Given the description of an element on the screen output the (x, y) to click on. 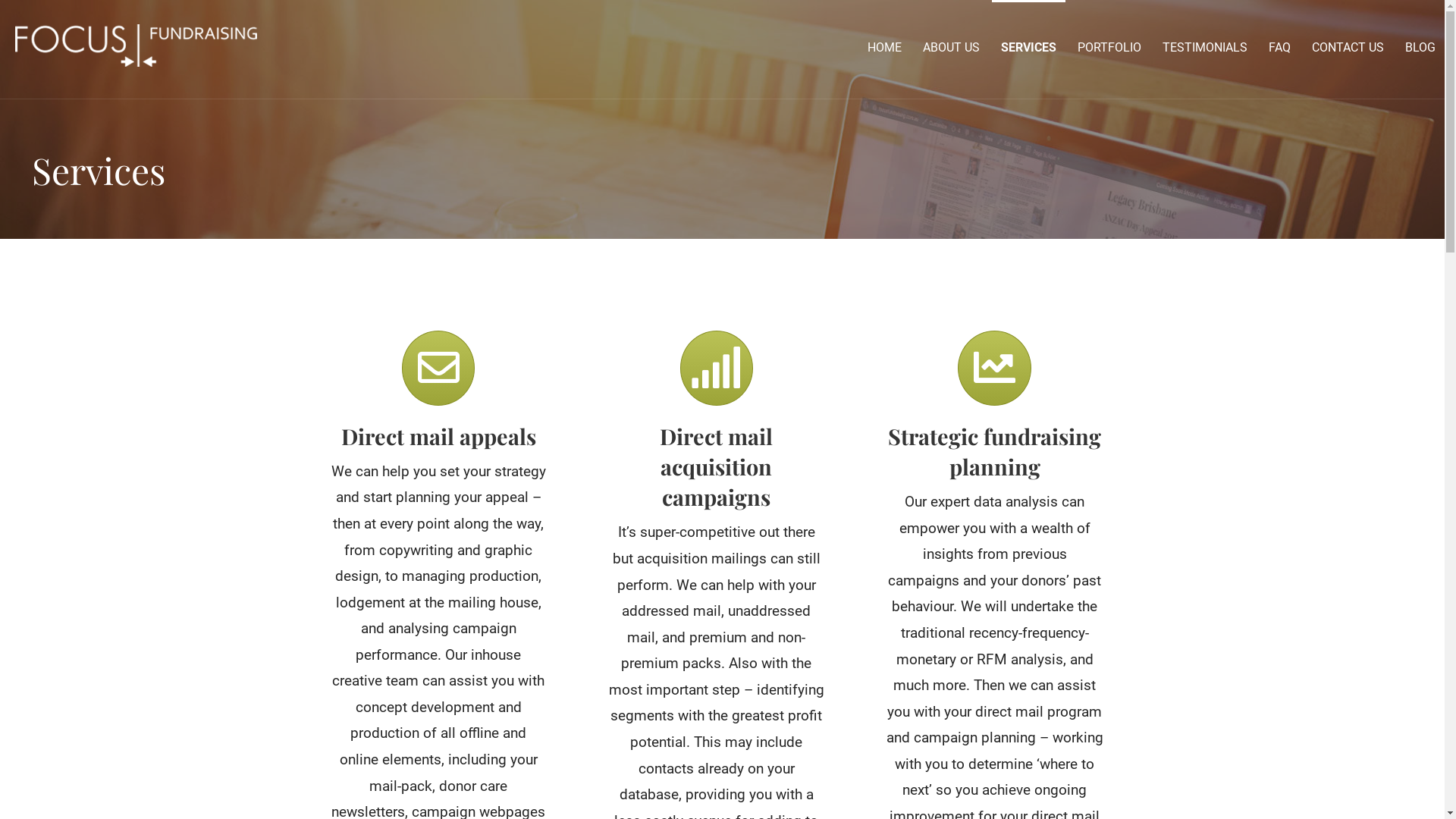
TESTIMONIALS Element type: text (1204, 47)
Skip to content Element type: text (0, 0)
CONTACT US Element type: text (1347, 47)
BLOG Element type: text (1420, 47)
ABOUT US Element type: text (950, 47)
FAQ Element type: text (1279, 47)
HOME Element type: text (884, 47)
PORTFOLIO Element type: text (1109, 47)
SERVICES Element type: text (1028, 47)
